Given the description of an element on the screen output the (x, y) to click on. 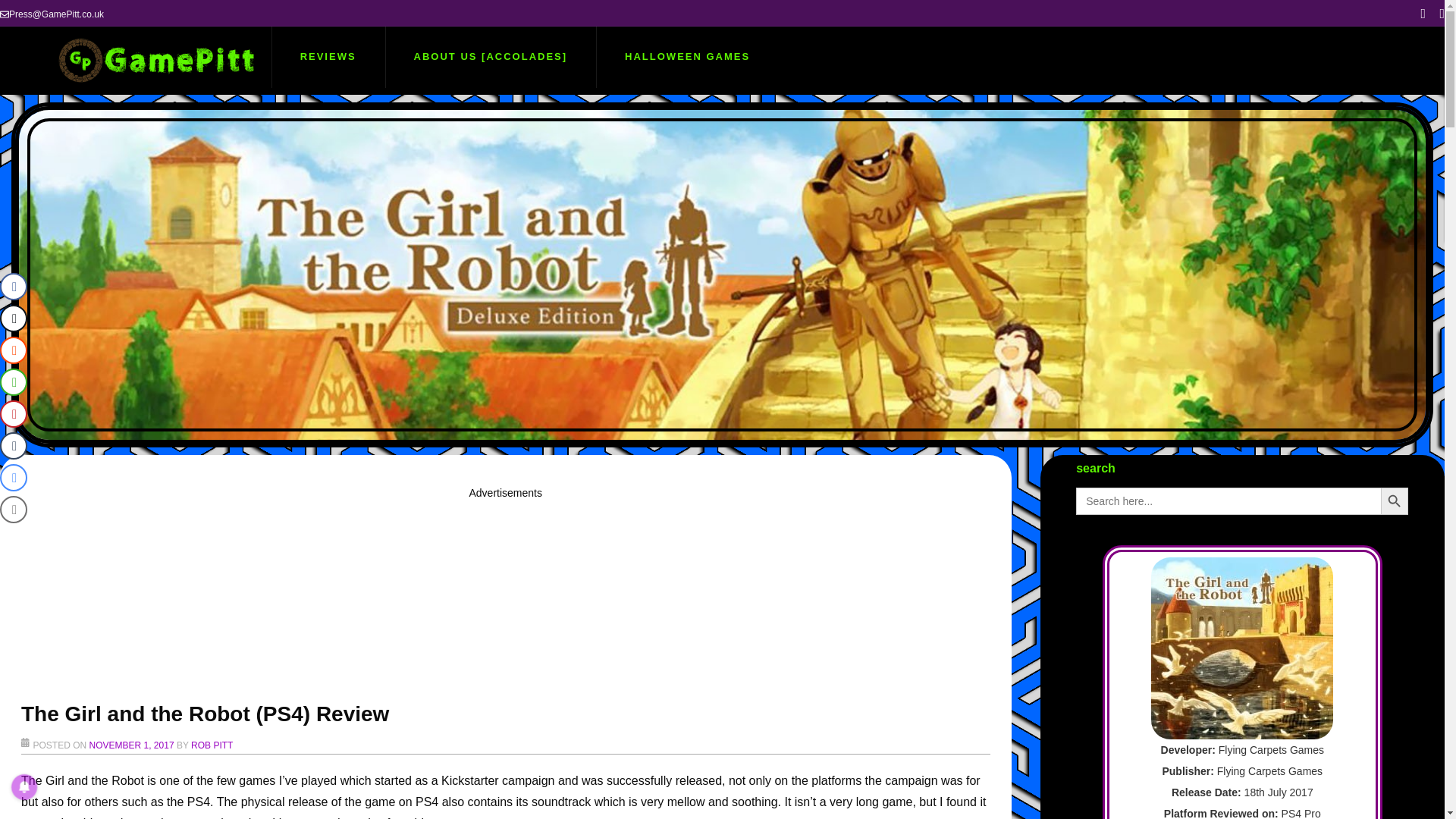
REVIEWS (327, 56)
11:00 am (131, 745)
View all posts by Rob Pitt (211, 745)
